Given the description of an element on the screen output the (x, y) to click on. 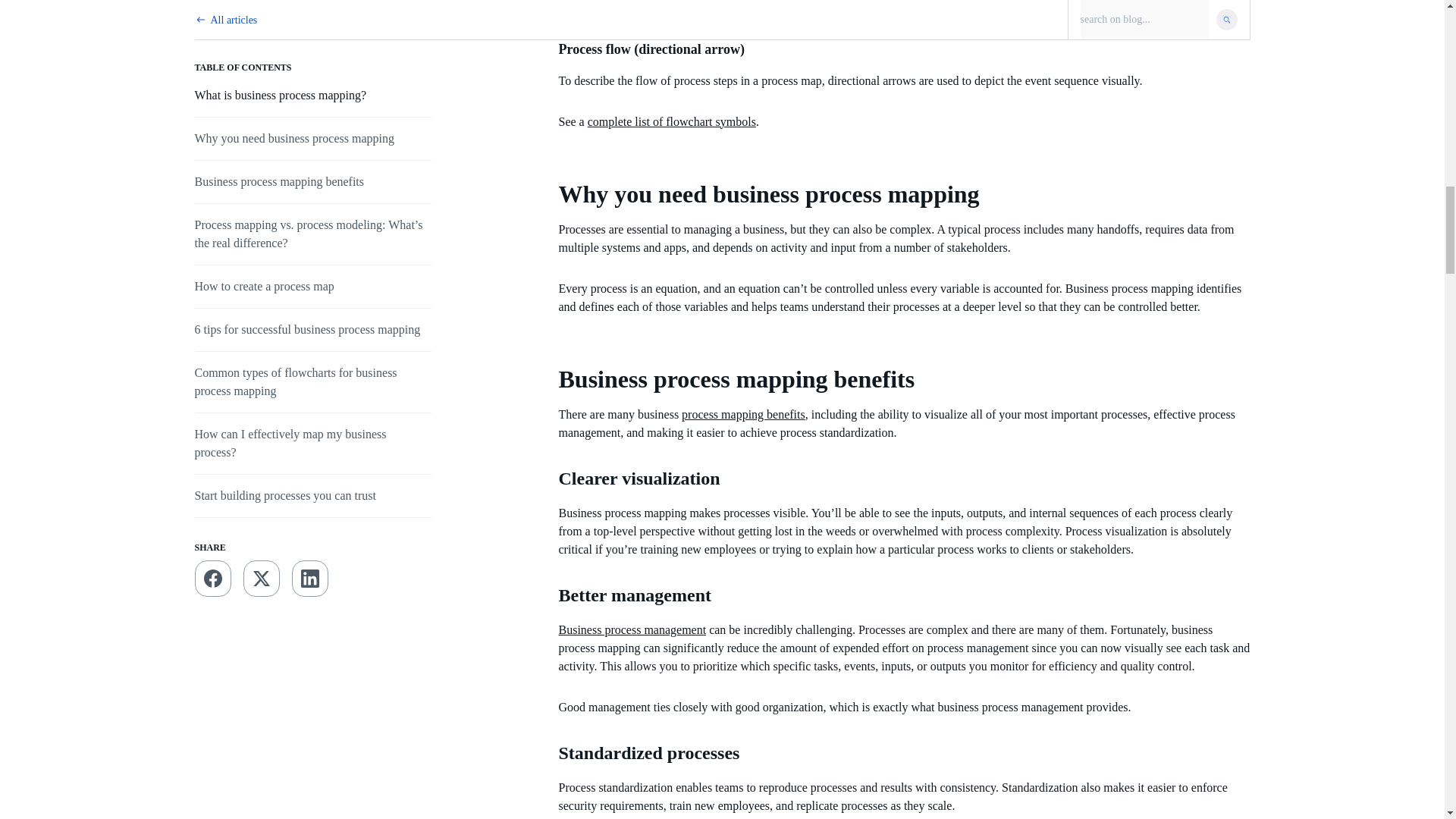
process mapping benefits (743, 413)
complete list of flowchart symbols (671, 121)
Business process management (631, 629)
